Given the description of an element on the screen output the (x, y) to click on. 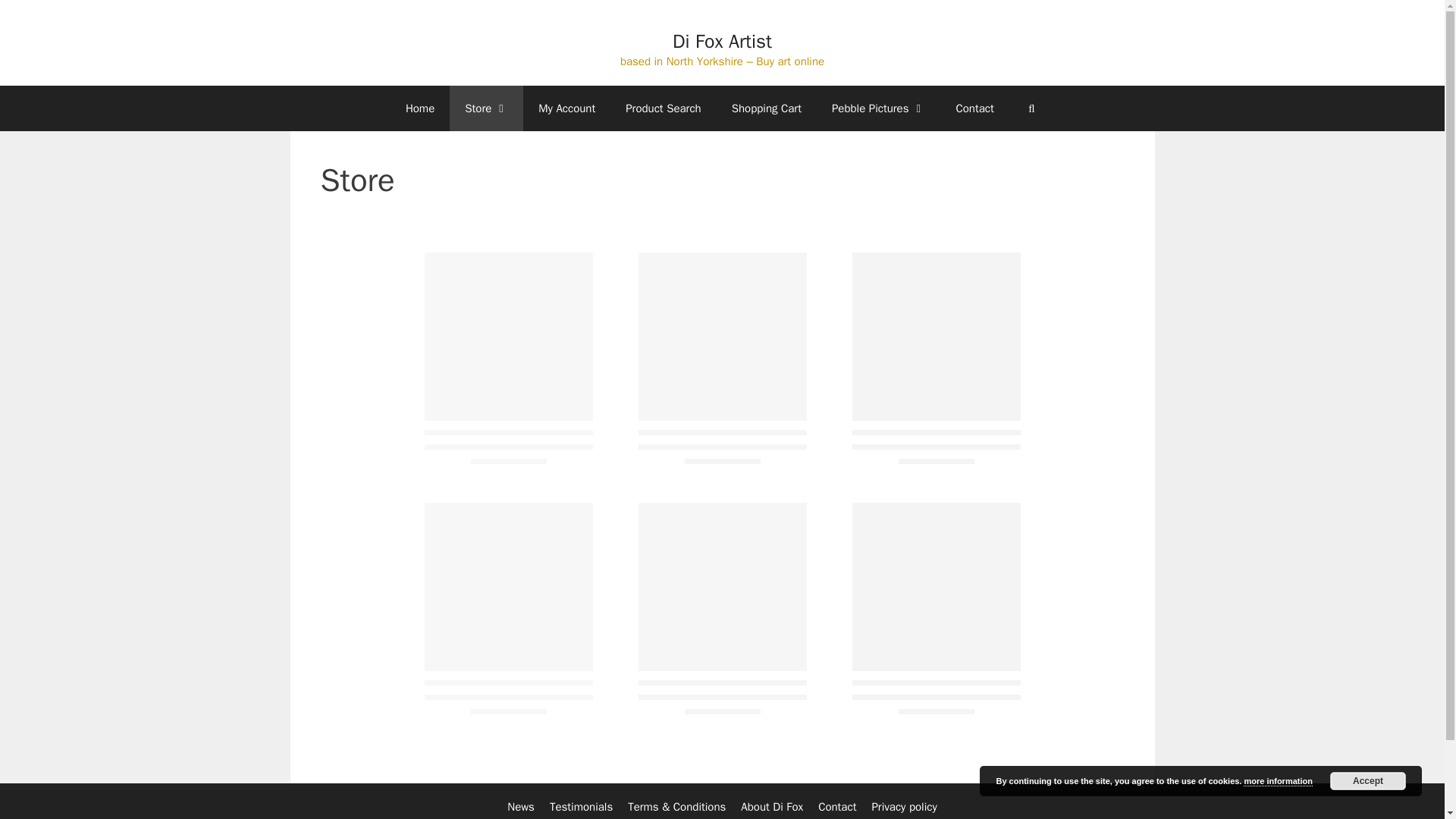
Product Search (663, 107)
News (520, 807)
Store (485, 107)
Pebble Pictures (878, 107)
Privacy policy (903, 807)
Testimonials (581, 807)
My Account (566, 107)
Contact (837, 807)
more information (1277, 781)
Accept (1368, 781)
